Given the description of an element on the screen output the (x, y) to click on. 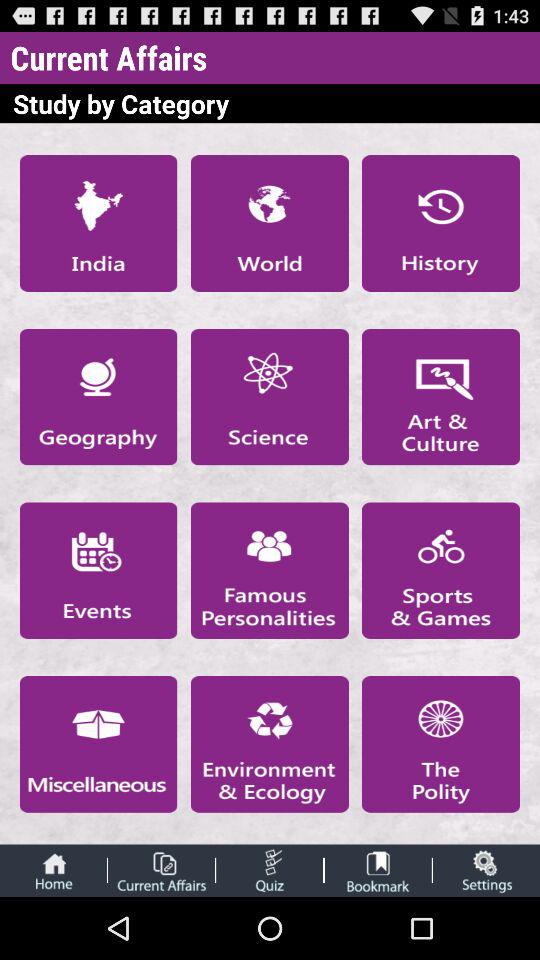
art culture (441, 396)
